Given the description of an element on the screen output the (x, y) to click on. 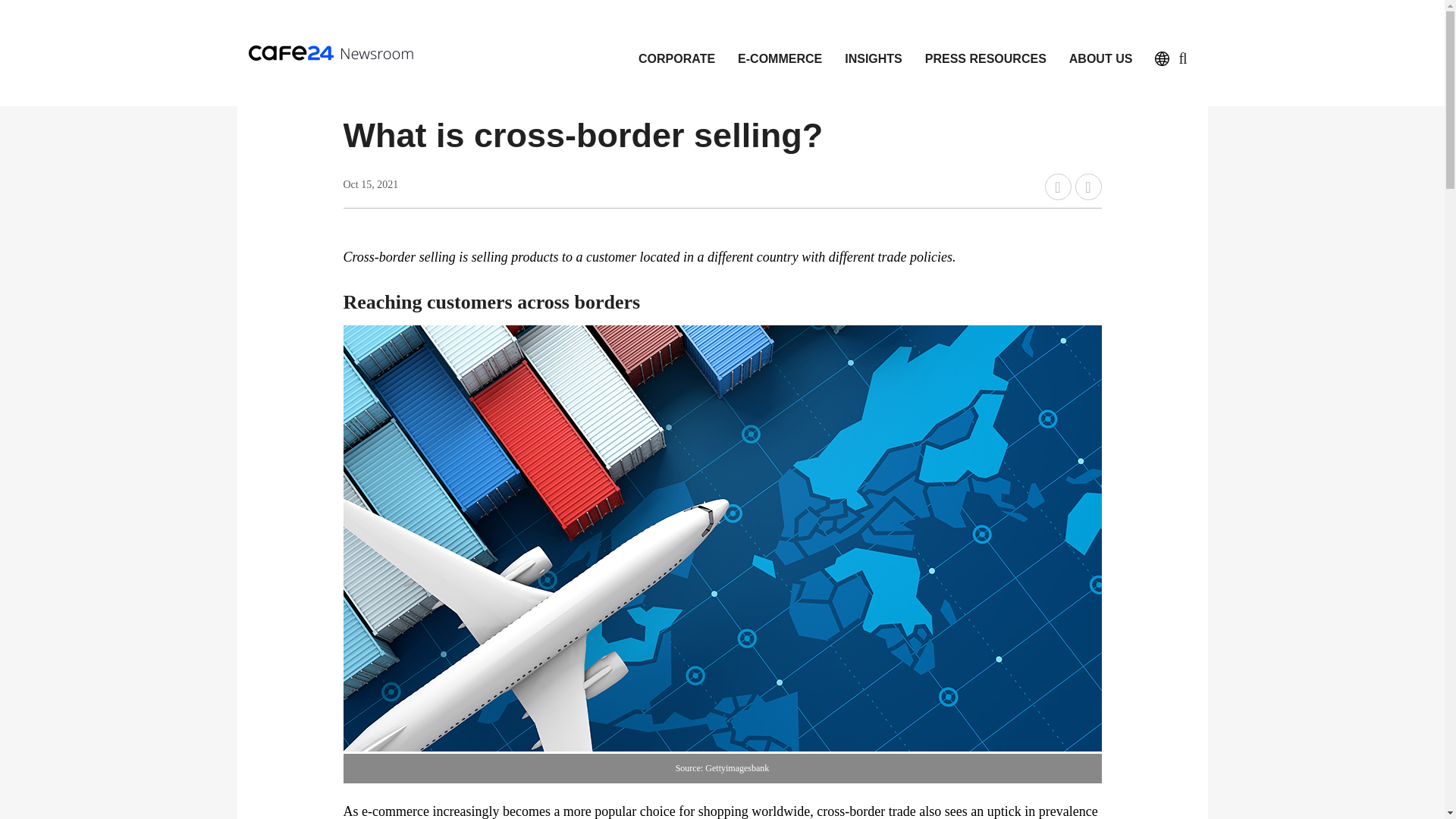
INSIGHTS (873, 53)
ABOUT US (1101, 53)
E-COMMERCE (779, 53)
PRESS RESOURCES (986, 53)
CORPORATE (676, 53)
